Given the description of an element on the screen output the (x, y) to click on. 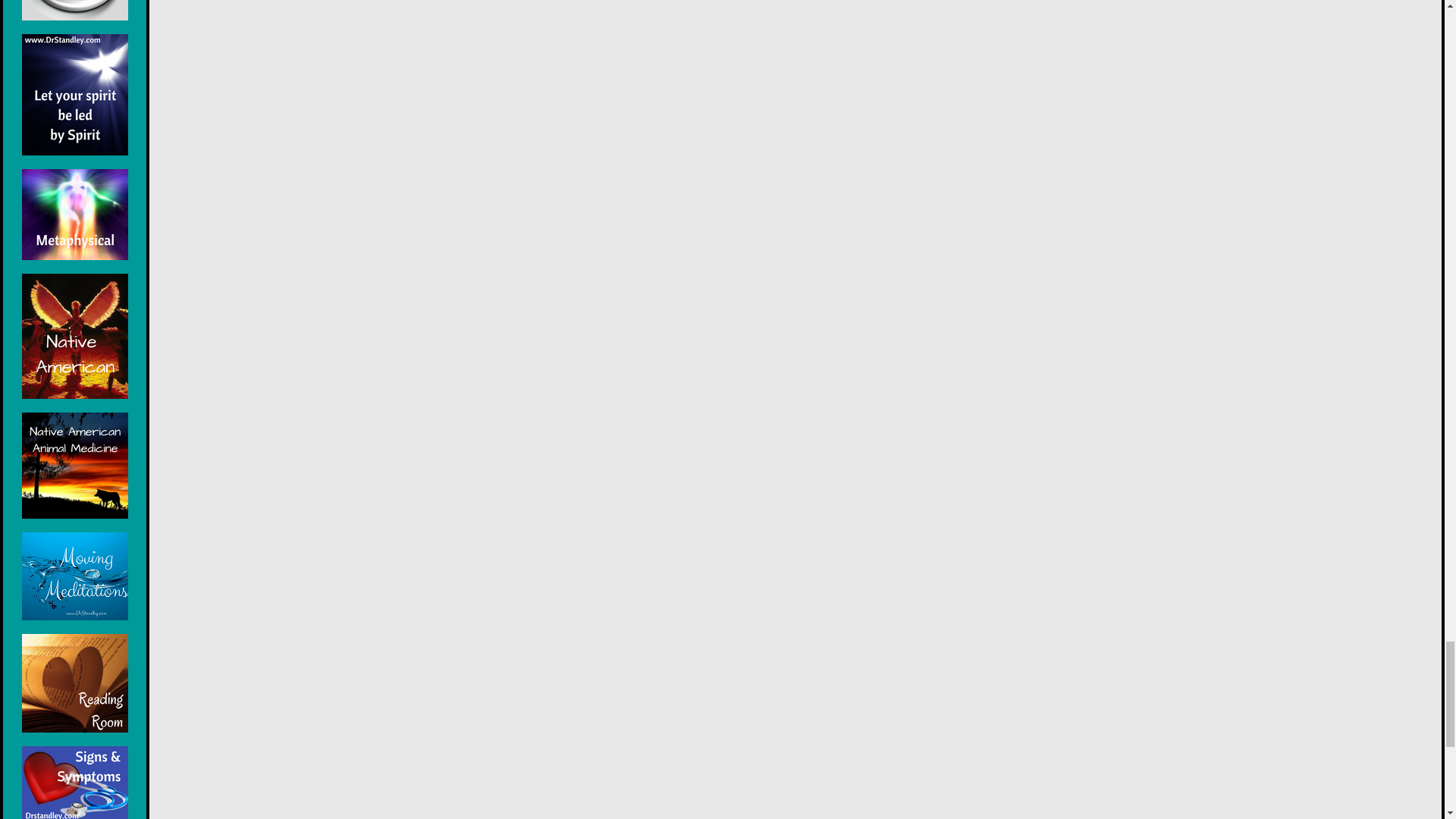
Astrology Quizzes, Health Quizzes, Games, Hangman and more (74, 10)
